Given the description of an element on the screen output the (x, y) to click on. 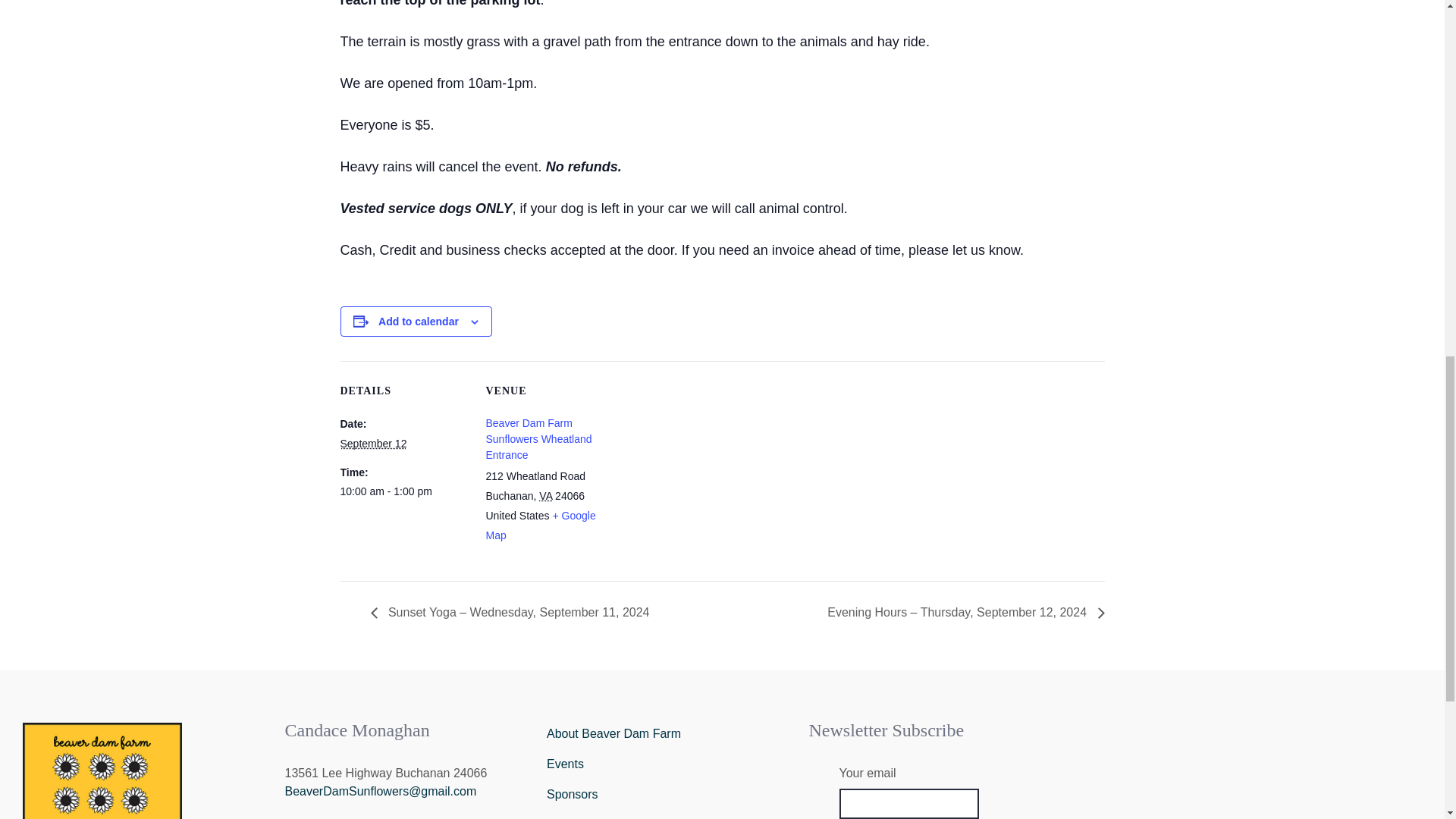
Sponsors (666, 794)
2024-09-12 (403, 491)
Virginia (544, 495)
Beaver Dam Farm Sunflowers Wheatland Entrance (537, 438)
Events (666, 764)
Sunflower Store (666, 814)
About Beaver Dam Farm (666, 734)
2024-09-12 (372, 443)
Add to calendar (418, 321)
